Given the description of an element on the screen output the (x, y) to click on. 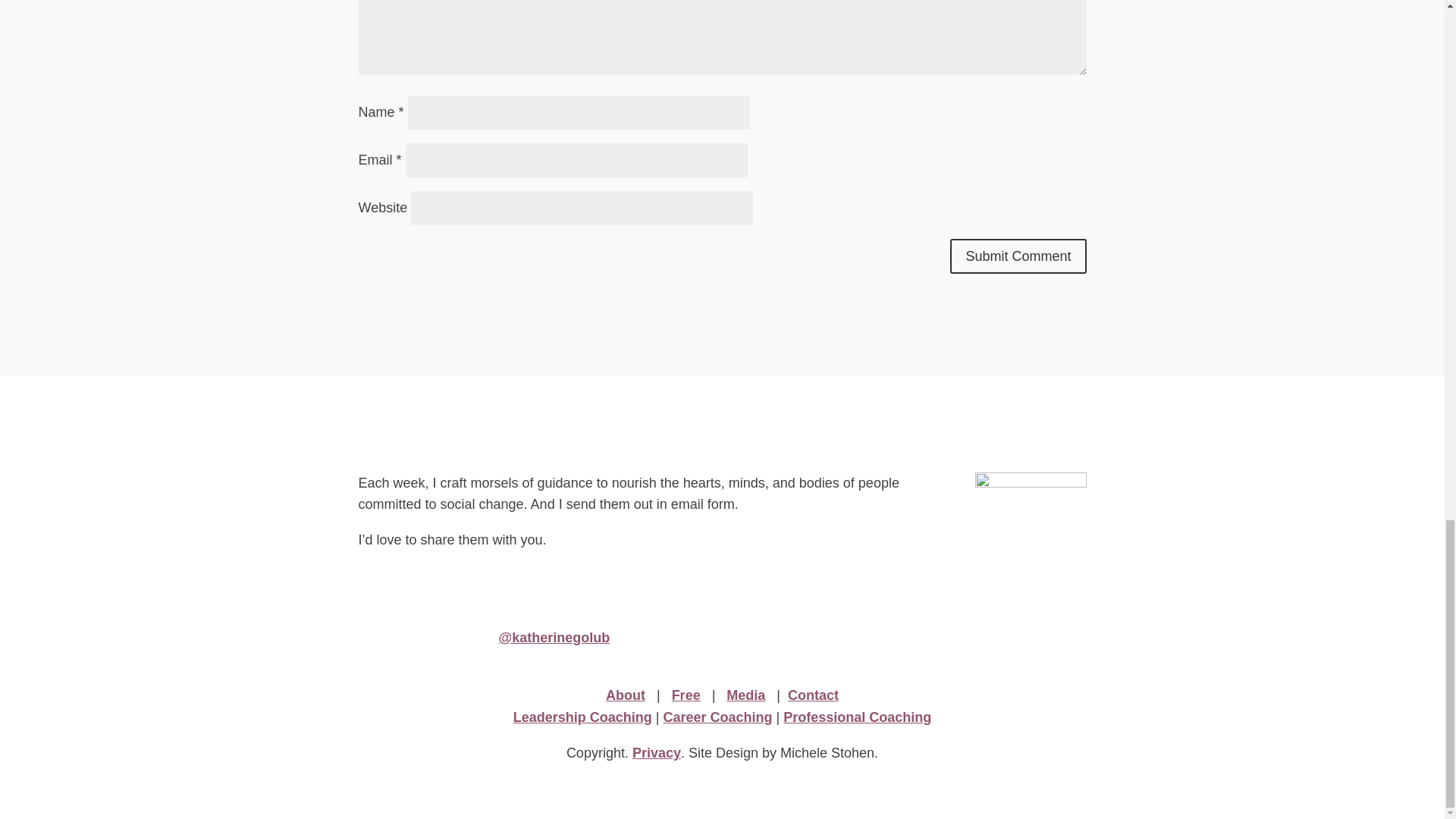
Contact (812, 694)
About (625, 694)
Free (685, 694)
Professional Coaching (857, 717)
Submit Comment (1018, 255)
Leadership Coaching (582, 717)
Media (745, 694)
About (625, 694)
Submit Comment (1018, 255)
Career Coaching (716, 717)
Contact (812, 694)
Privacy (656, 752)
Media (745, 694)
